Given the description of an element on the screen output the (x, y) to click on. 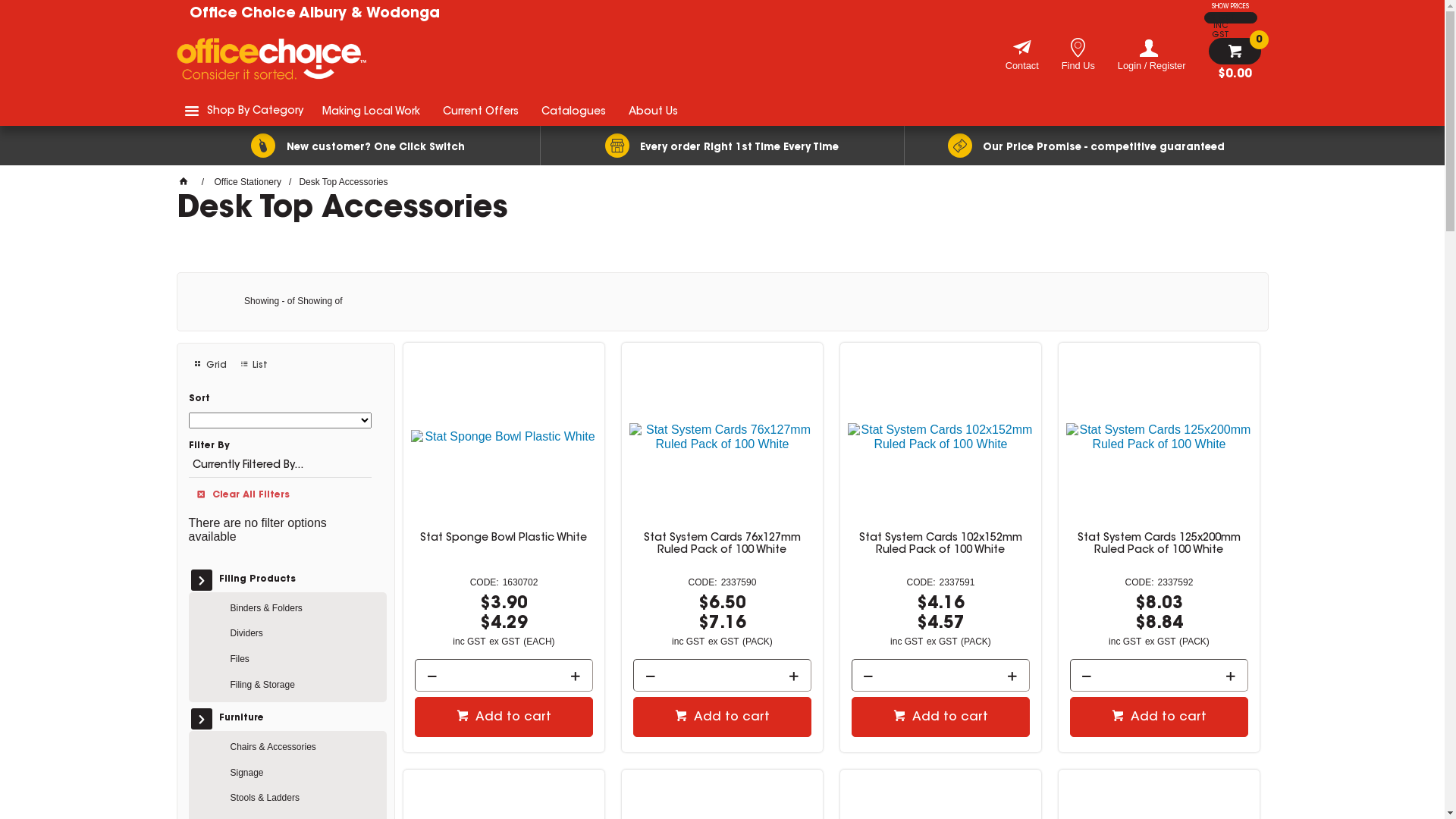
Add to cart Element type: text (722, 716)
Stat System Cards 125x200mm Ruled Pack of 100 White Element type: text (1159, 544)
Filing Products Element type: text (293, 580)
Chairs & Accessories Element type: text (303, 747)
New customer? One Click Switch Element type: text (357, 145)
$0.00
0 Element type: text (1234, 59)
Signage Element type: text (303, 773)
Furniture Element type: text (293, 718)
Clear All Filters Element type: text (279, 493)
EX GST Element type: text (1220, 17)
Add to cart Element type: text (1159, 716)
About Us Element type: text (653, 110)
Login / Register Element type: text (1151, 54)
Add to cart Element type: text (503, 716)
Stat System Cards 76x127mm Ruled Pack of 100 White Element type: text (722, 544)
Binders & Folders Element type: text (303, 608)
Office Stationery Element type: text (248, 181)
Filing & Storage Element type: text (303, 685)
Stat System Cards 102x152mm Ruled Pack of 100 White Element type: text (940, 544)
Dividers Element type: text (303, 633)
Every order Right 1st Time Every Time Element type: text (721, 145)
Stools & Ladders Element type: text (303, 798)
Contact Element type: text (1021, 68)
Find Us Element type: text (1078, 68)
Stat Sponge Bowl Plastic White Element type: text (503, 538)
Our Price Promise - competitive guaranteed Element type: text (1085, 145)
Files Element type: text (303, 659)
Add to cart Element type: text (940, 716)
INC GST Element type: text (1220, 25)
Catalogues Element type: text (572, 110)
Current Offers Element type: text (479, 110)
Making Local Work Element type: text (370, 110)
